Given the description of an element on the screen output the (x, y) to click on. 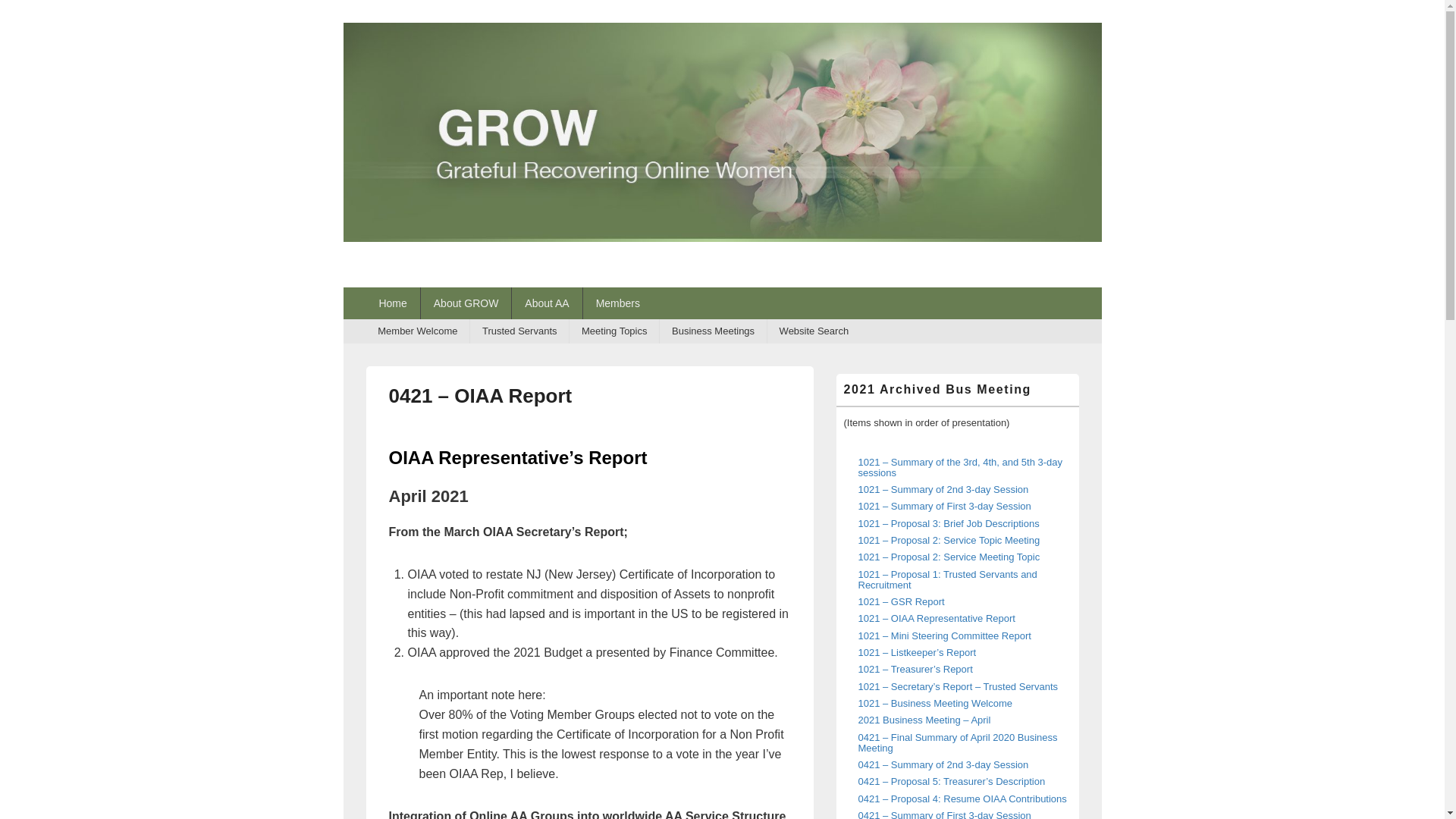
About GROW (466, 303)
Member Welcome (416, 331)
GROW (721, 237)
Trusted Servants (519, 331)
Home (392, 303)
About AA (546, 303)
Members (617, 303)
